Given the description of an element on the screen output the (x, y) to click on. 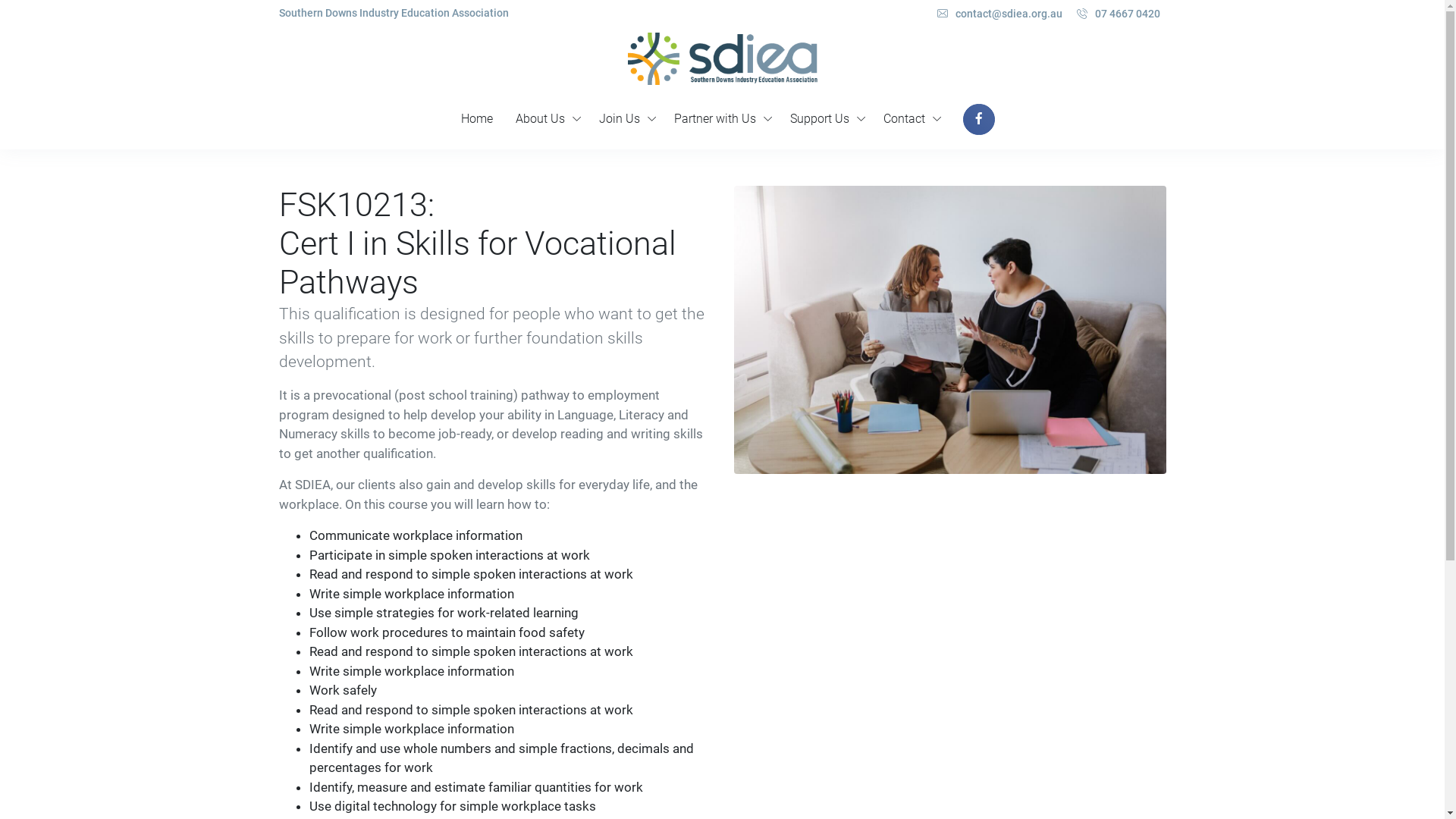
SDIEA - Southern Downs Industry Education Association Element type: hover (722, 58)
Home Element type: text (476, 118)
Join Us Element type: text (624, 118)
07 4667 0420 Element type: text (1118, 14)
Support Us Element type: text (825, 118)
ua.gro.aeids@tcatnoc Element type: text (1008, 13)
About Us Element type: text (545, 118)
Contact Element type: text (909, 118)
Partner with Us Element type: text (720, 118)
Southern Downs Industry Education Association Element type: text (393, 12)
